Given the description of an element on the screen output the (x, y) to click on. 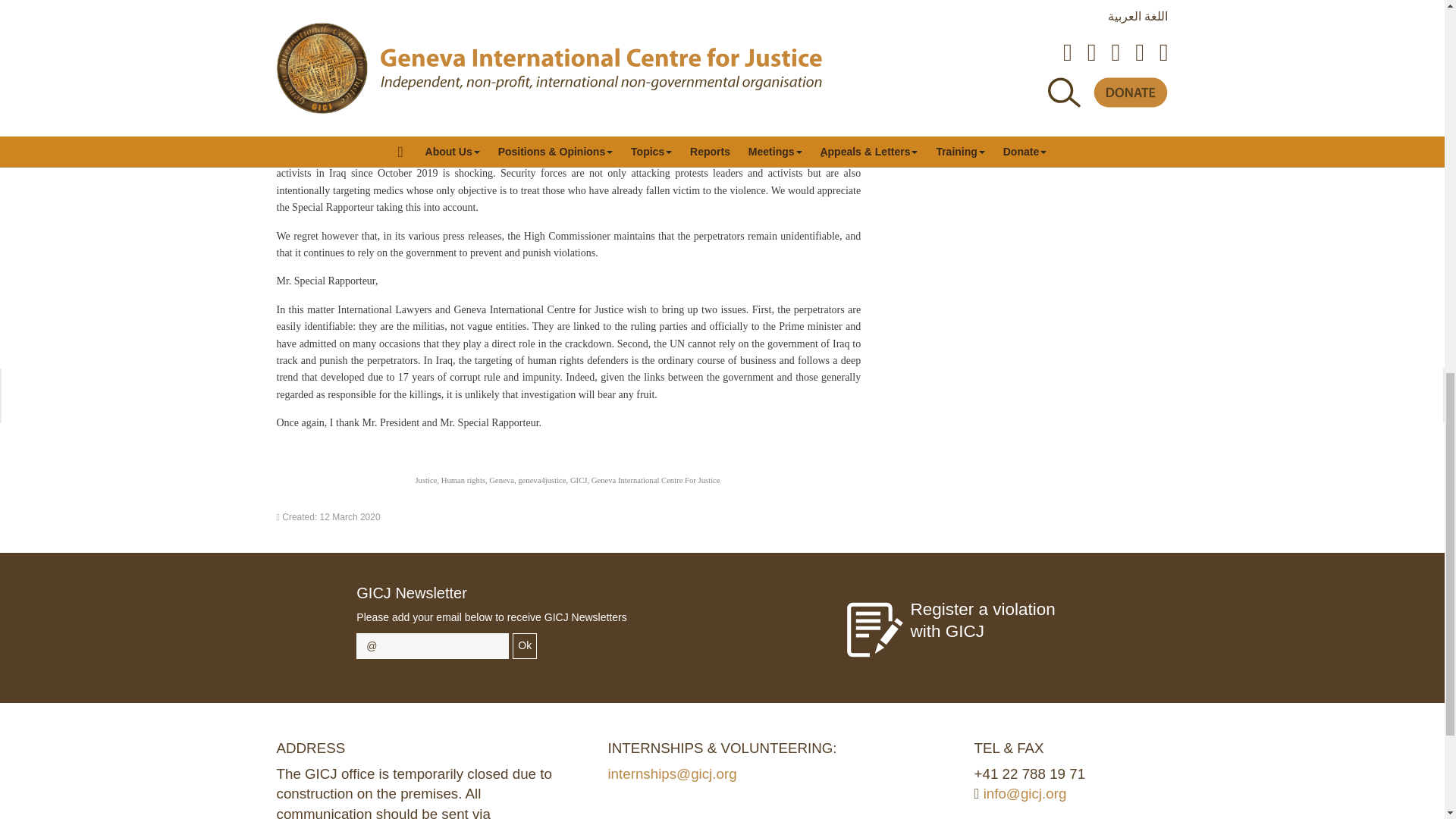
Back to Top (1414, 30)
